Given the description of an element on the screen output the (x, y) to click on. 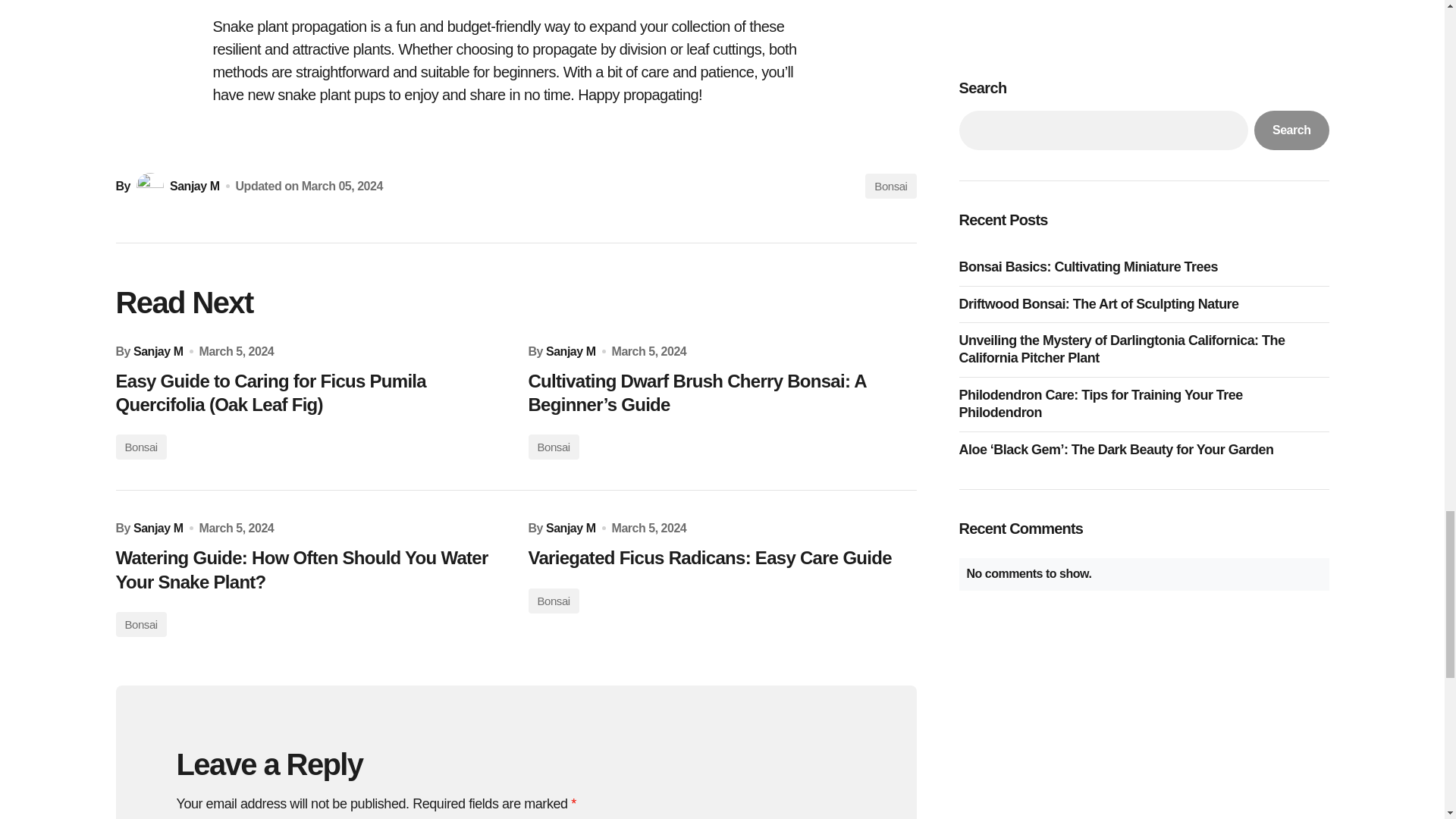
Sanjay M (158, 527)
Bonsai (552, 600)
Bonsai (552, 446)
Sanjay M (158, 350)
Sanjay M (570, 350)
Sanjay M (176, 185)
Watering Guide: How Often Should You Water Your Snake Plant? (309, 569)
Bonsai (889, 186)
Sanjay M (570, 527)
Variegated Ficus Radicans: Easy Care Guide (721, 557)
